Given the description of an element on the screen output the (x, y) to click on. 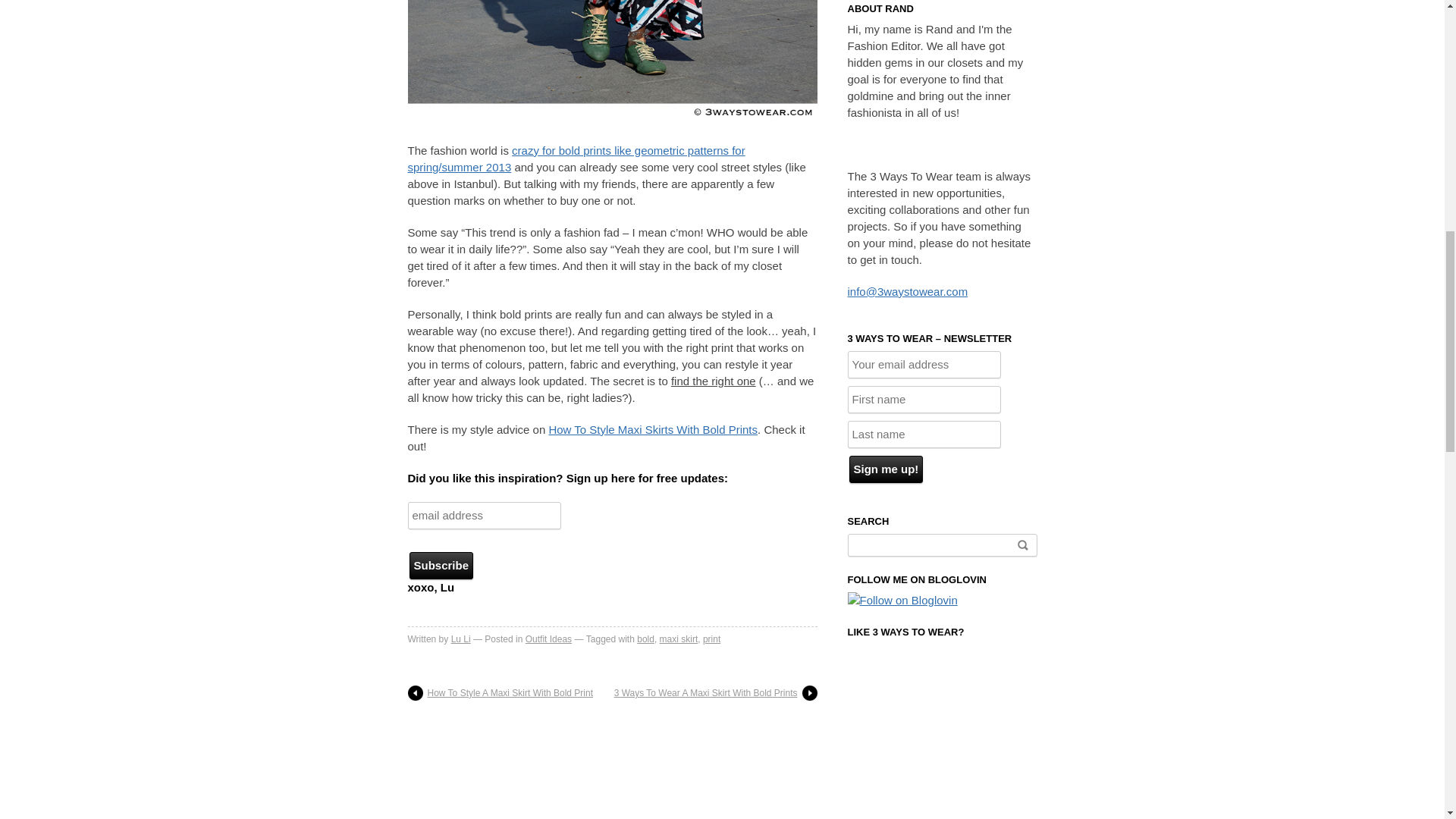
bold (645, 638)
Outfit Ideas (548, 638)
How To Style A Maxi Skirt With Bold Print (500, 693)
3 Ways To Wear A Maxi Skirt With Bold Prints (715, 693)
Follow 3 WAYS TO WEAR on Bloglovin (902, 599)
Sign me up! (885, 469)
Subscribe (441, 565)
maxi skirt (678, 638)
Sign me up! (885, 469)
Posts by Lu Li (460, 638)
Lu Li (460, 638)
How To Style Maxi Skirts With Bold Prints (652, 429)
LIKE 3 WAYS TO WEAR? (905, 632)
print (711, 638)
Subscribe (441, 565)
